Given the description of an element on the screen output the (x, y) to click on. 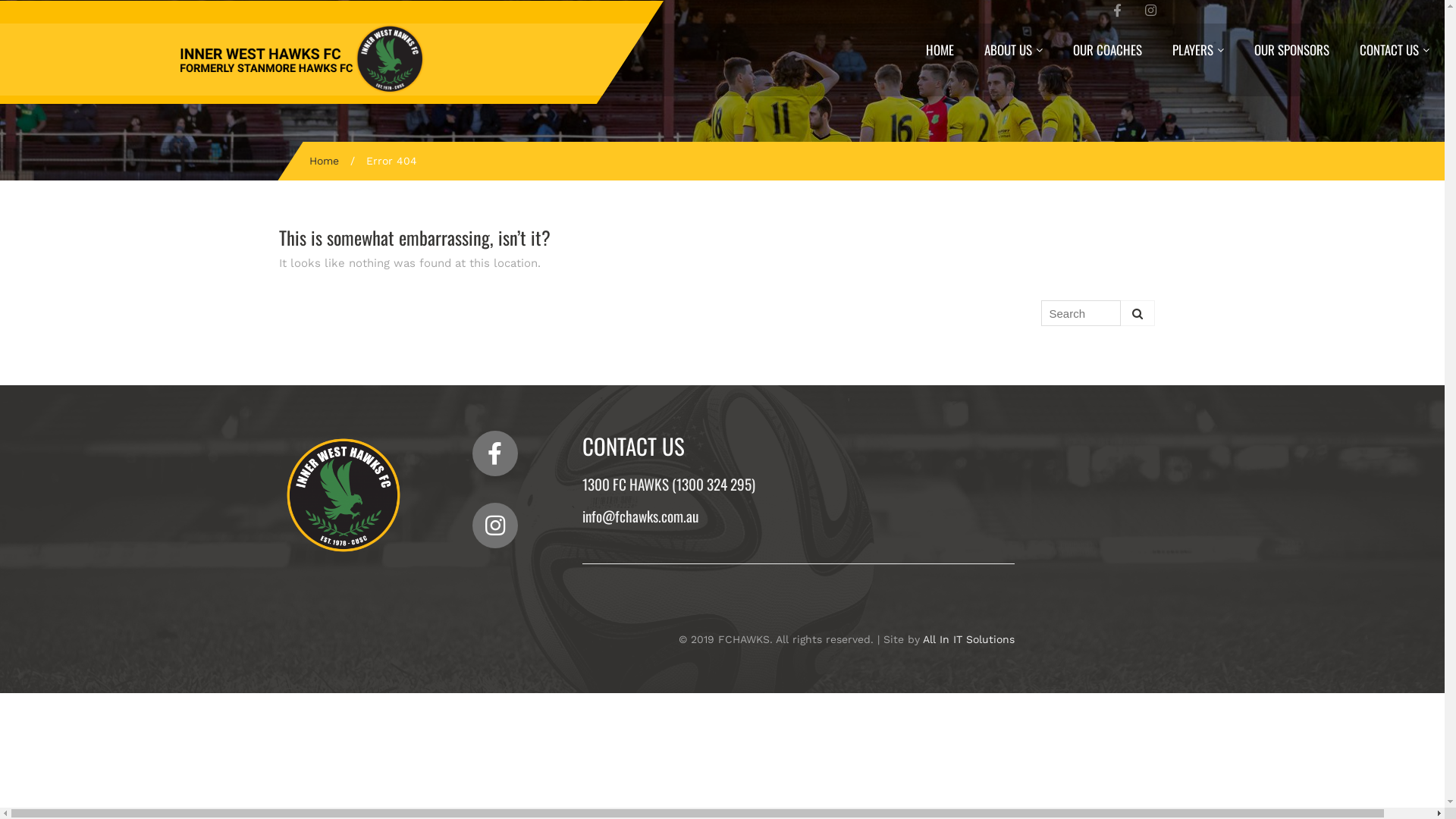
OUR COACHES Element type: text (1107, 49)
HOME Element type: text (939, 49)
All In IT Solutions Element type: text (967, 639)
info@fchawks.com.au Element type: text (640, 516)
Search Element type: text (1137, 313)
1300 FC HAWKS (1300 324 295) Element type: text (668, 484)
Fc Hawks Logo Client Copy-01 2 (1) Element type: hover (343, 494)
OUR SPONSORS Element type: text (1291, 49)
ABOUT US Element type: text (1013, 49)
Home Element type: text (323, 160)
PLAYERS Element type: text (1198, 49)
CONTACT US Element type: text (1394, 49)
